Given the description of an element on the screen output the (x, y) to click on. 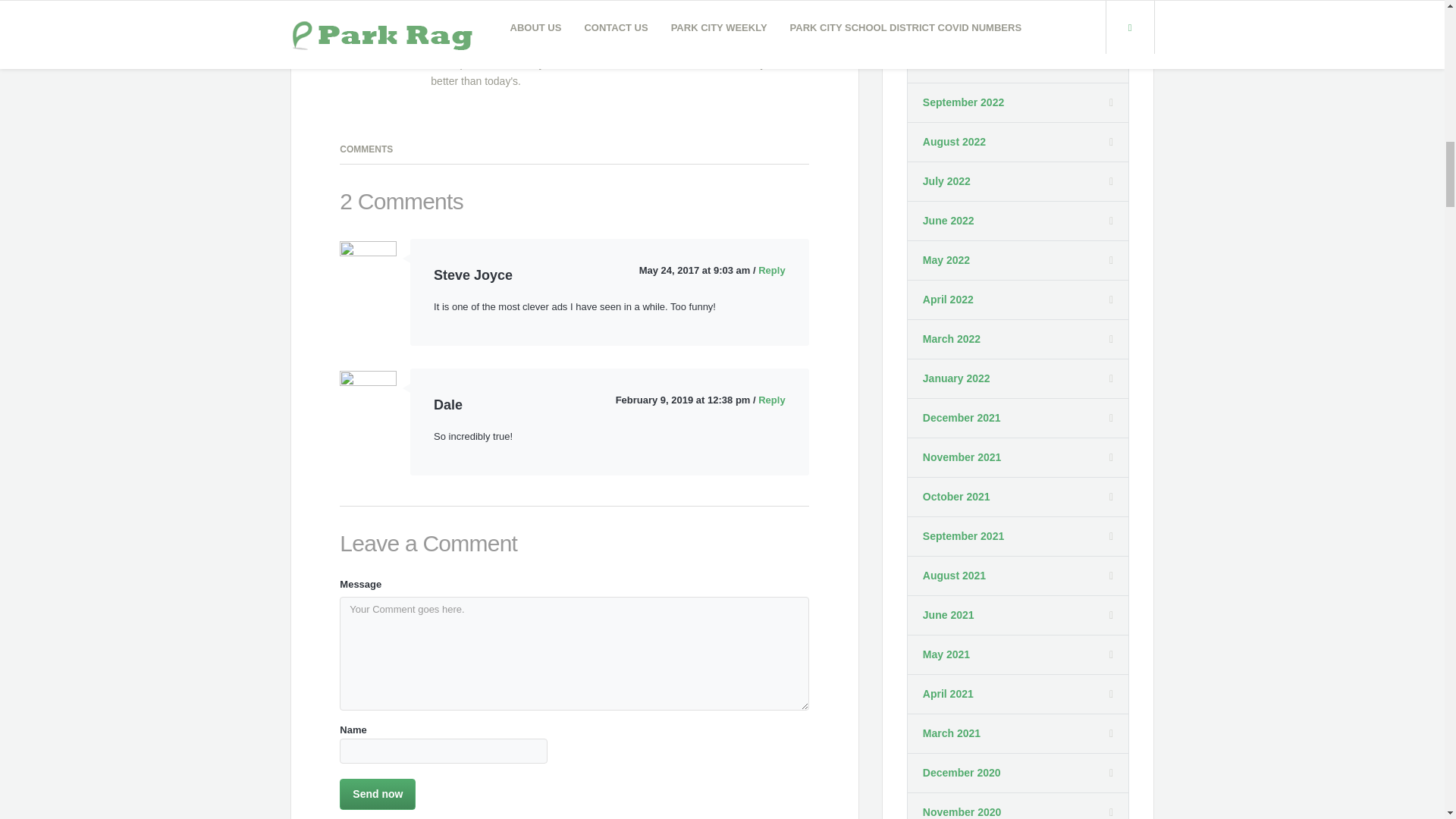
Send now (376, 793)
Parkrag (455, 23)
Send now (376, 793)
Reply (771, 270)
Reply (771, 399)
